Given the description of an element on the screen output the (x, y) to click on. 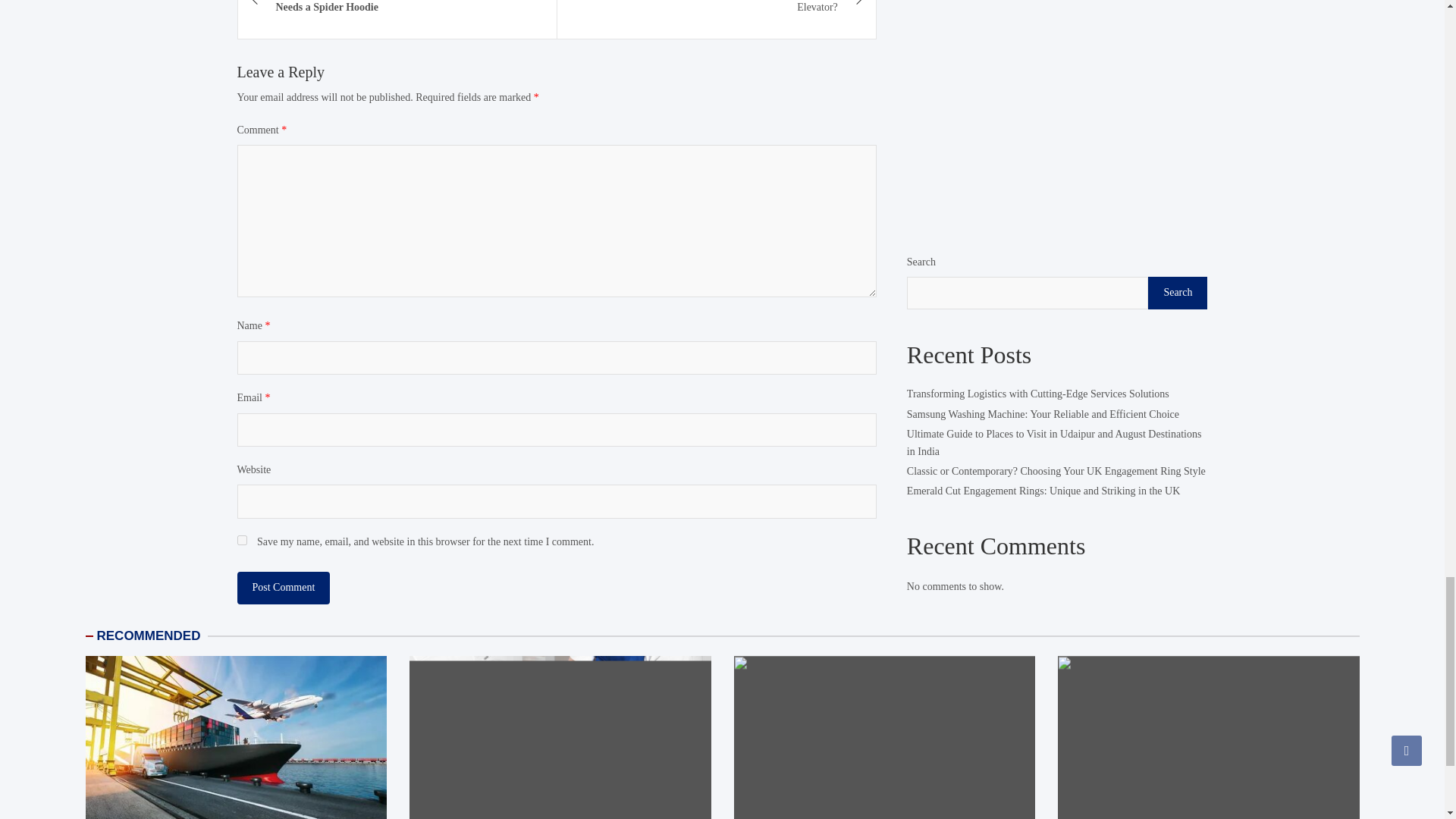
RECOMMENDED (148, 635)
Post Comment (282, 587)
Post Comment (282, 587)
yes (240, 540)
